Given the description of an element on the screen output the (x, y) to click on. 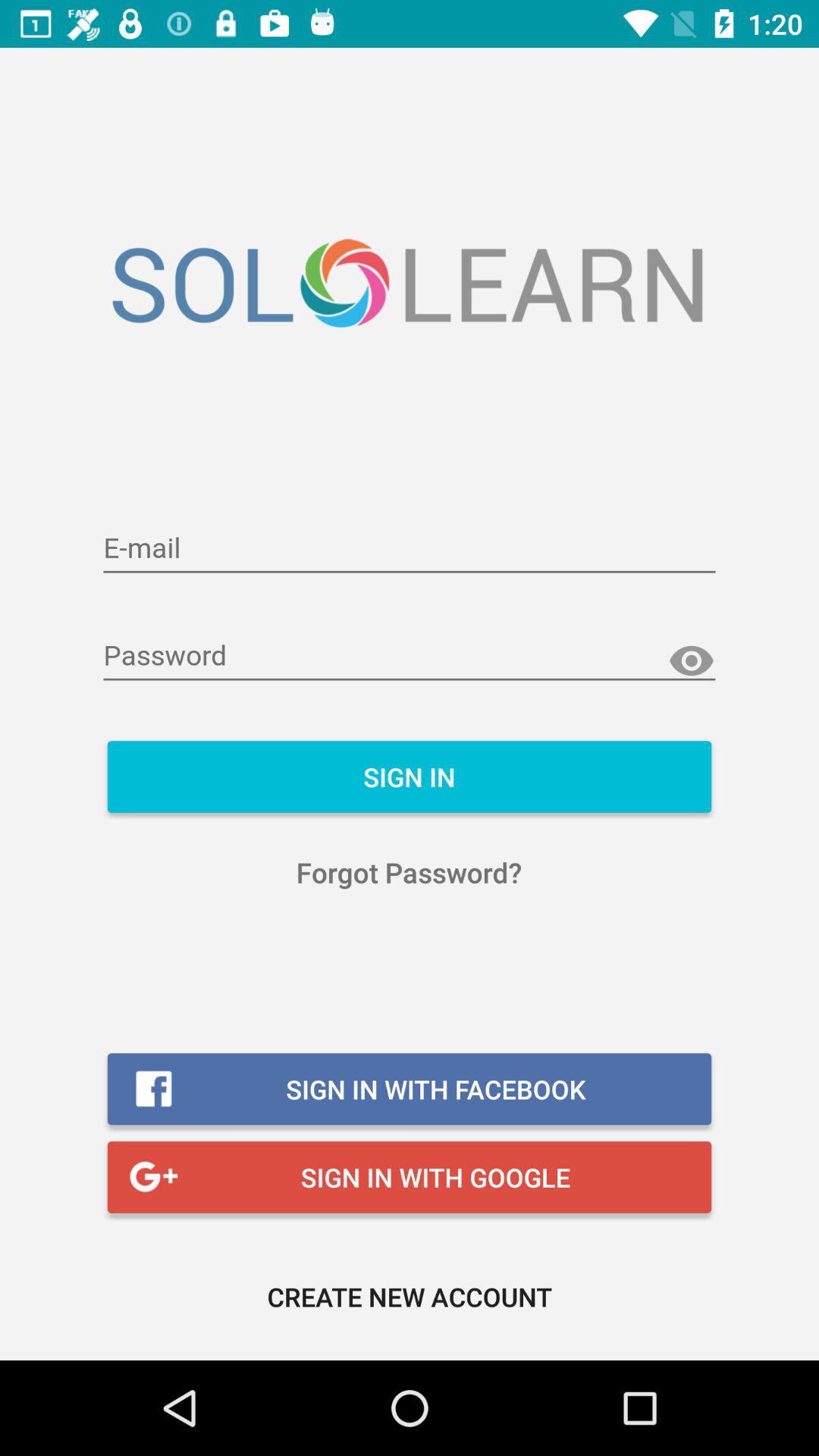
see characters (691, 661)
